Given the description of an element on the screen output the (x, y) to click on. 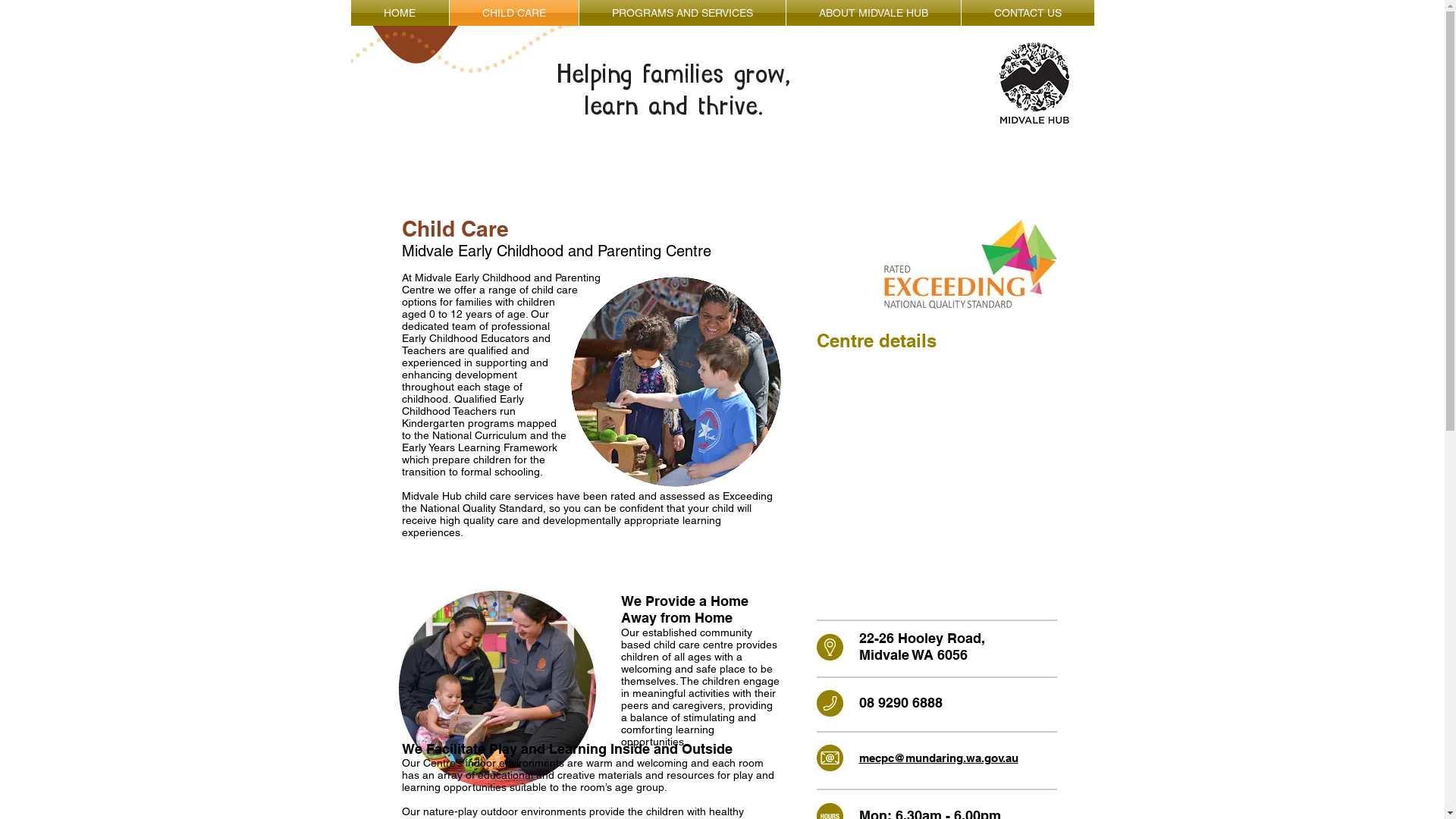
ABOUT MIDVALE HUB Element type: text (872, 12)
mecpc@mundaring.wa.gov.au Element type: text (937, 757)
PROGRAMS AND SERVICES Element type: text (682, 12)
midvalehublogo.jpg Element type: hover (1033, 82)
CHILD CARE Element type: text (512, 12)
Google Maps Element type: hover (935, 477)
HOME Element type: text (399, 12)
CONTACT US Element type: text (1027, 12)
